Given the description of an element on the screen output the (x, y) to click on. 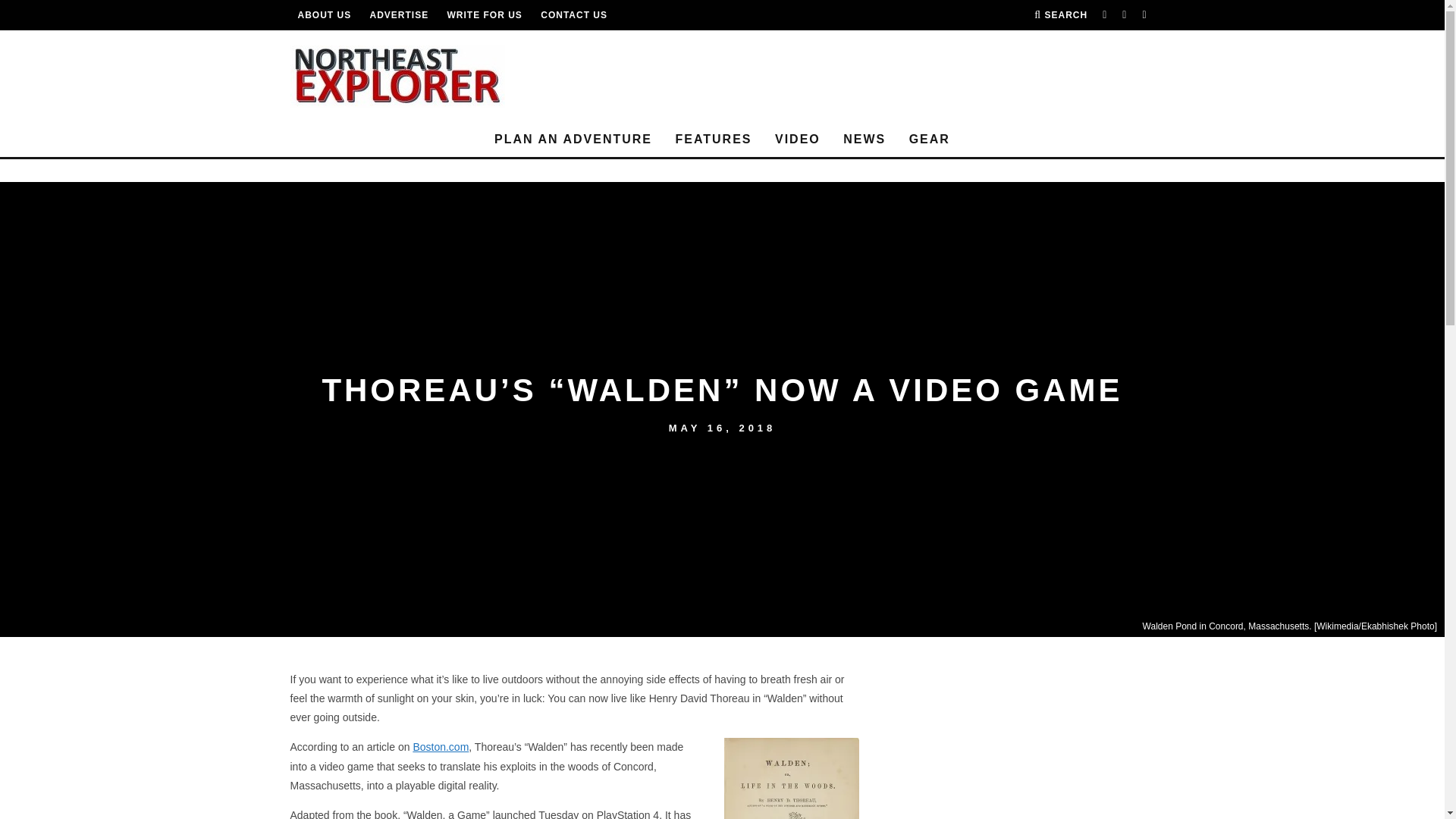
Search (1060, 15)
ABOUT US (323, 15)
WRITE FOR US (484, 15)
ADVERTISE (399, 15)
SEARCH (1060, 15)
GEAR (929, 139)
Boston.com (440, 746)
PLAN AN ADVENTURE (572, 139)
VIDEO (797, 139)
FEATURES (712, 139)
CONTACT US (573, 15)
NEWS (864, 139)
